Given the description of an element on the screen output the (x, y) to click on. 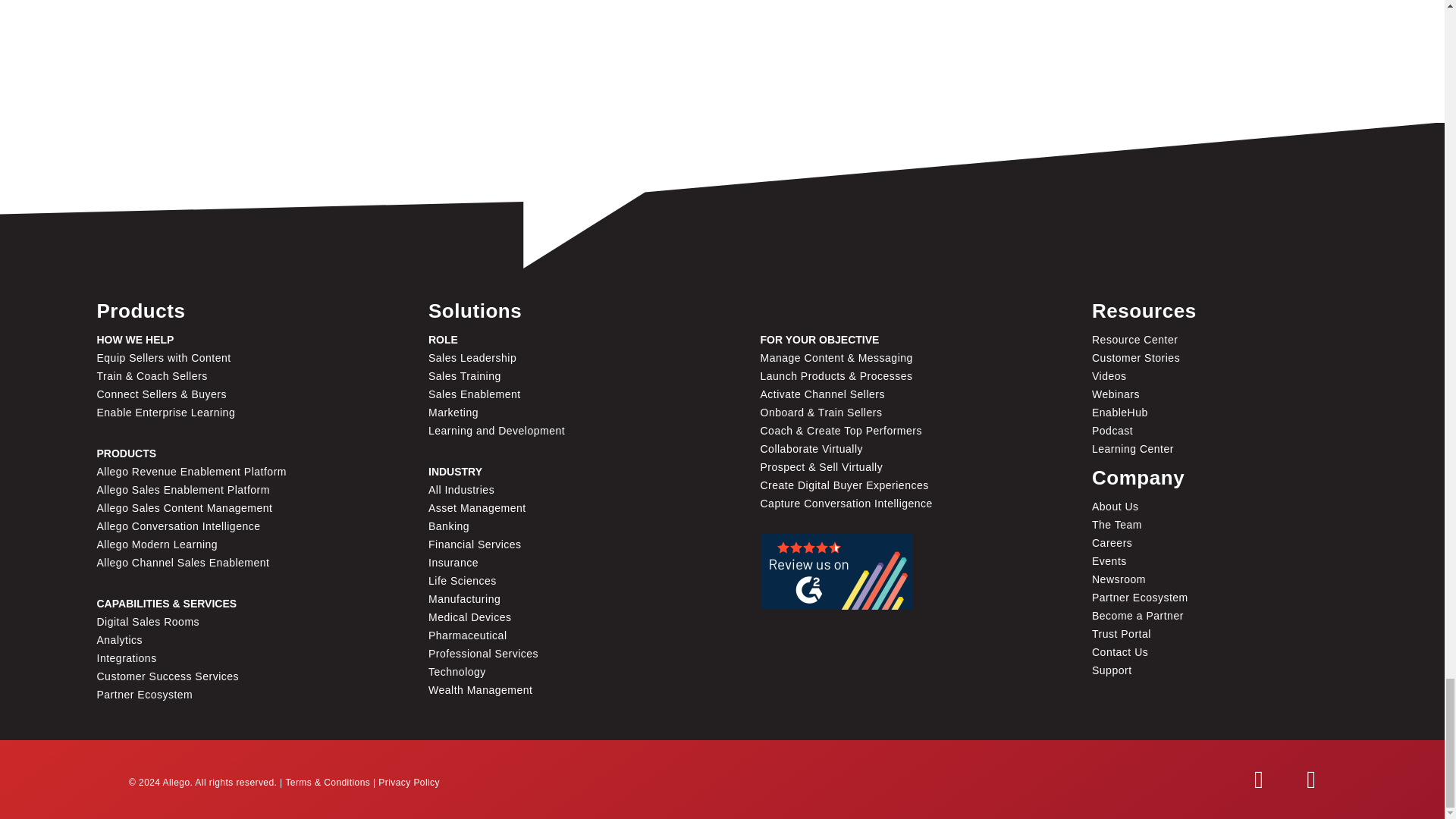
Write a review of Allego on G2 (835, 571)
